Given the description of an element on the screen output the (x, y) to click on. 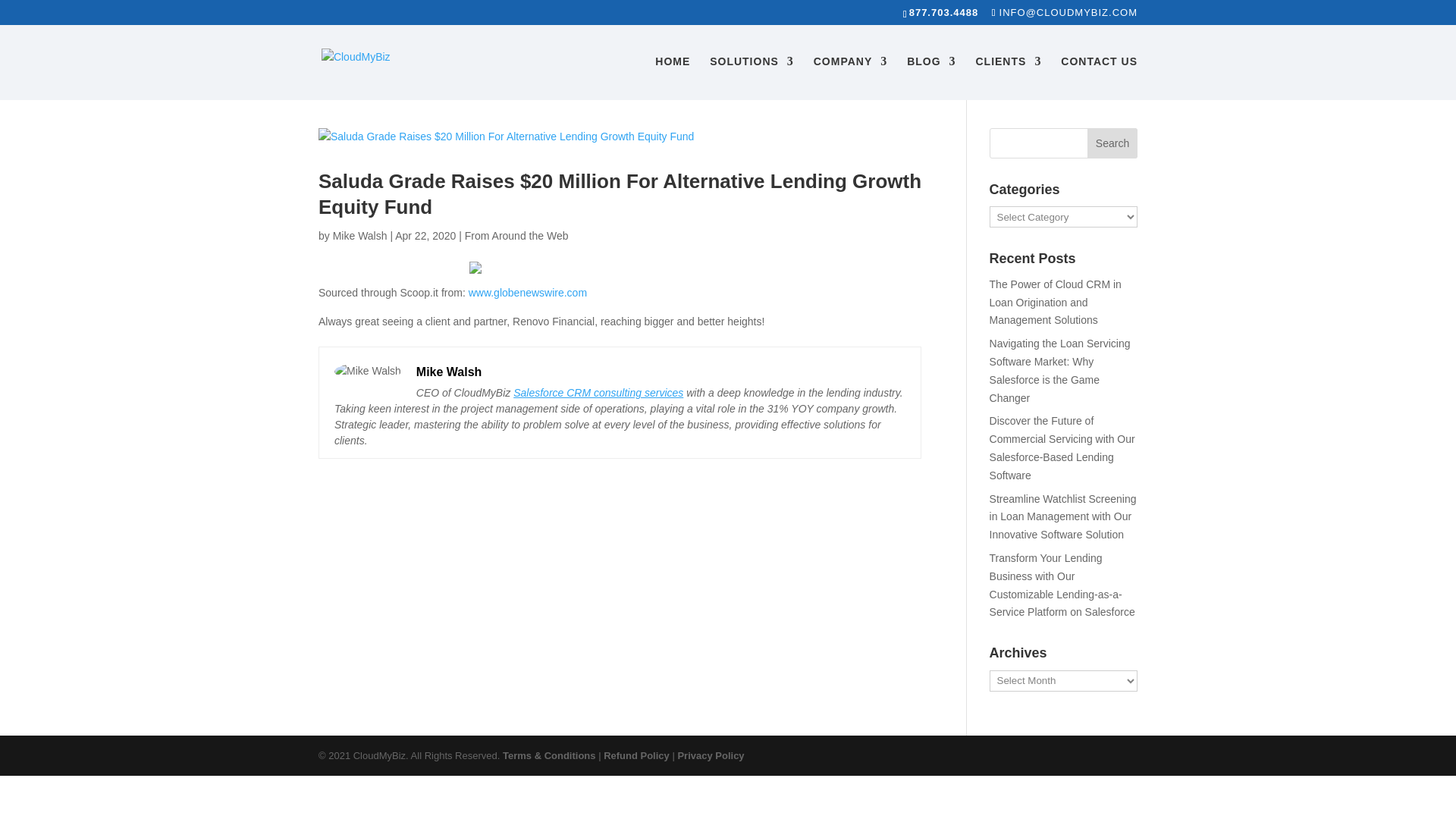
Salesforce CRM consulting services (597, 392)
Mike Walsh (448, 371)
CONTACT US (1099, 77)
BLOG (931, 77)
CLIENTS (1008, 77)
COMPANY (850, 77)
Mike Walsh (360, 235)
From Around the Web (516, 235)
www.globenewswire.com (527, 292)
Search (1112, 142)
